Given the description of an element on the screen output the (x, y) to click on. 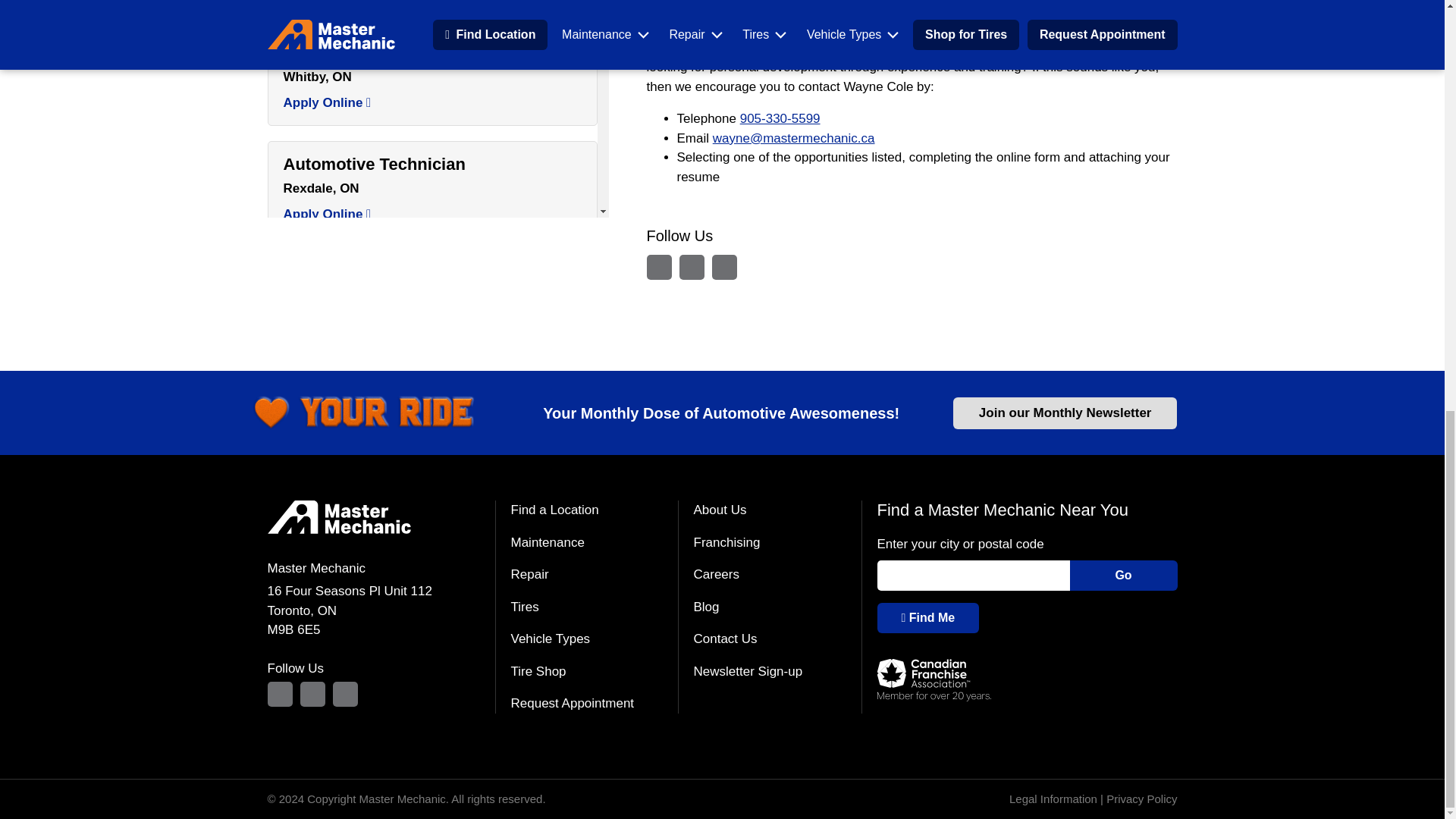
Instagram (658, 267)
Instagram (279, 693)
YouTube (723, 267)
Facebook (691, 267)
Facebook (311, 693)
YouTube (343, 693)
